Given the description of an element on the screen output the (x, y) to click on. 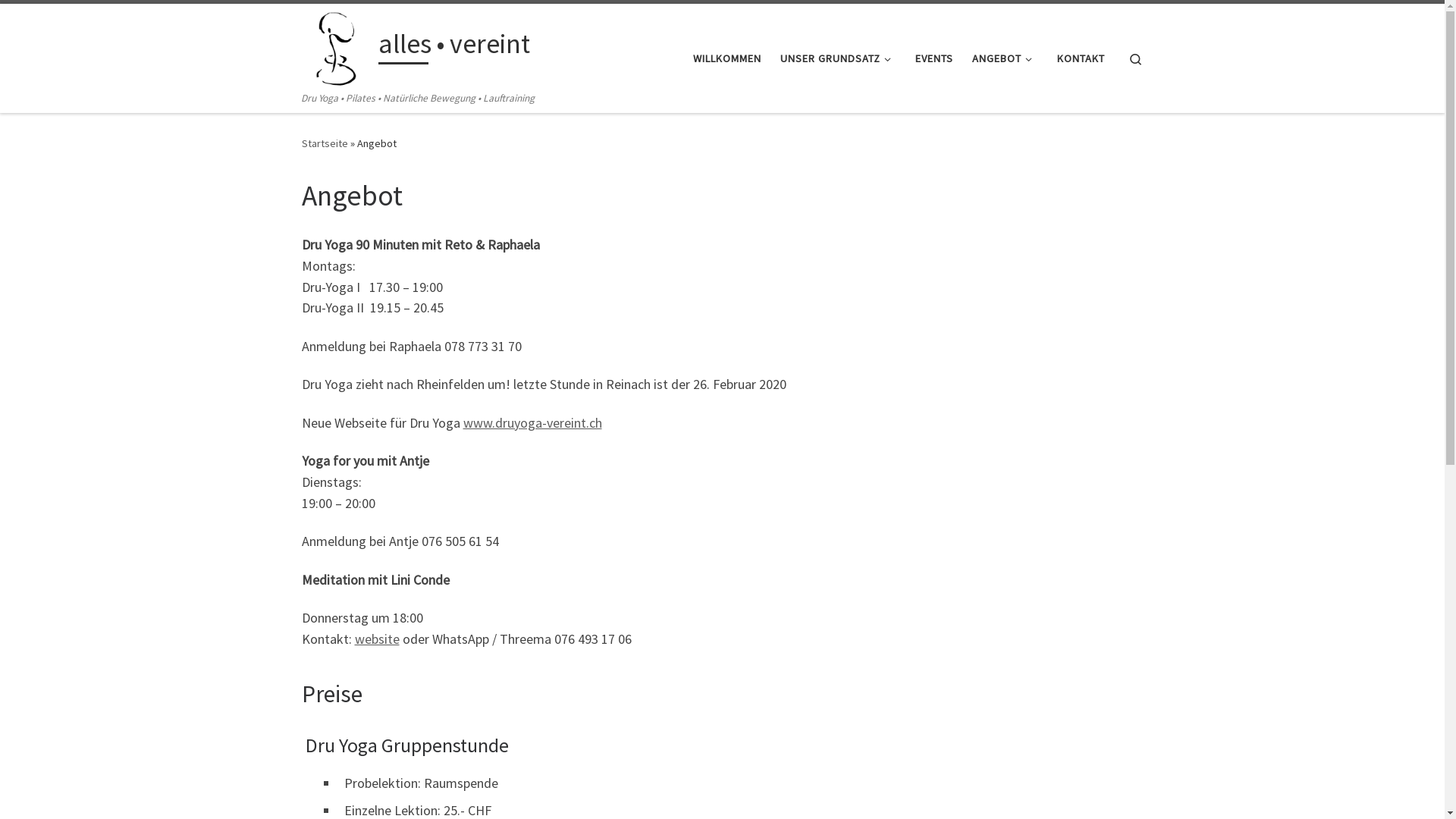
www.druyoga-vereint.ch Element type: text (531, 422)
UNSER GRUNDSATZ Element type: text (837, 58)
Skip to content Element type: text (57, 21)
WILLKOMMEN Element type: text (727, 58)
website Element type: text (376, 638)
ANGEBOT Element type: text (1004, 58)
KONTAKT Element type: text (1080, 58)
Startseite Element type: text (324, 143)
Search Element type: text (1135, 57)
EVENTS Element type: text (934, 58)
